Given the description of an element on the screen output the (x, y) to click on. 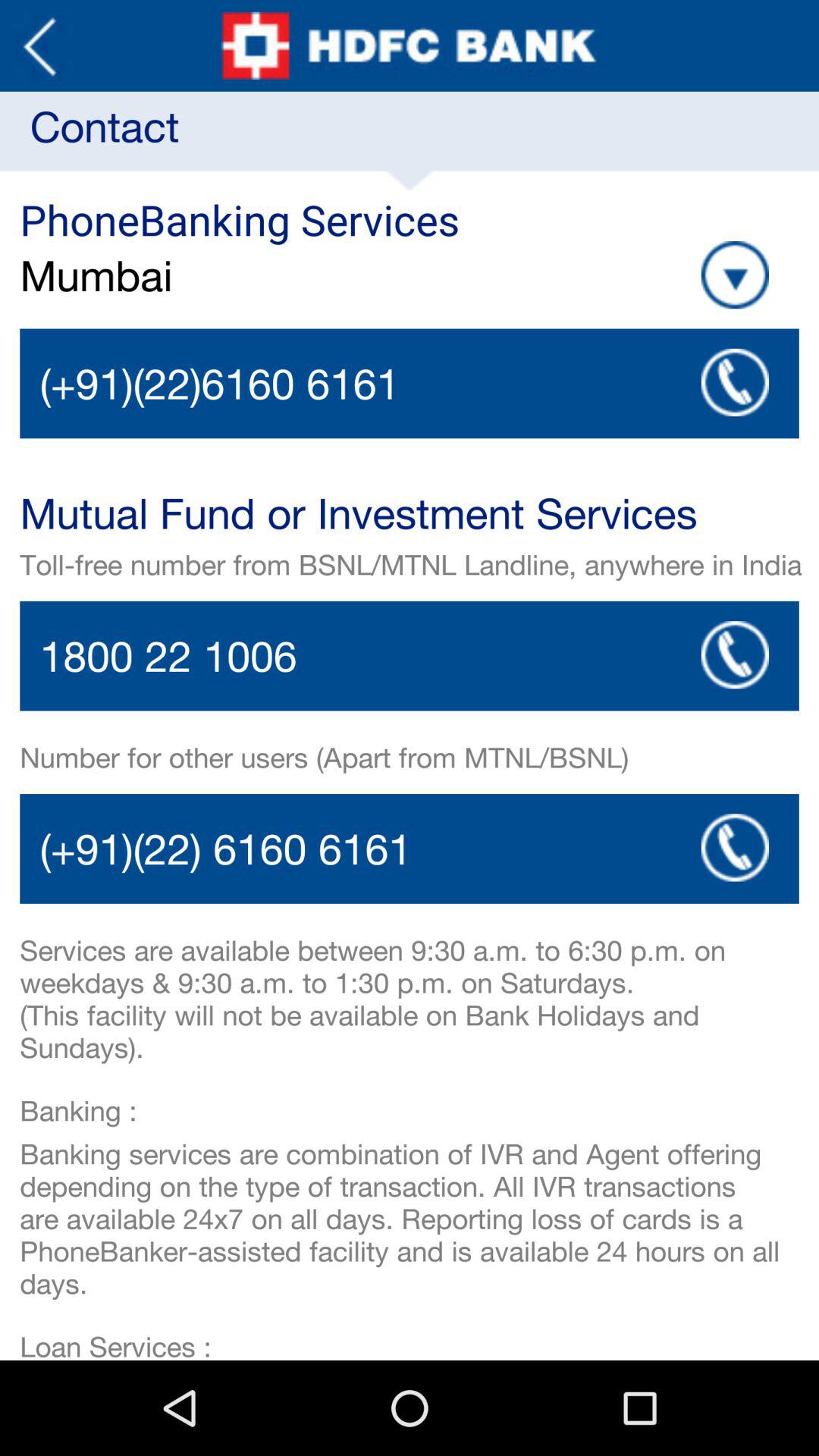
call button (734, 654)
